Given the description of an element on the screen output the (x, y) to click on. 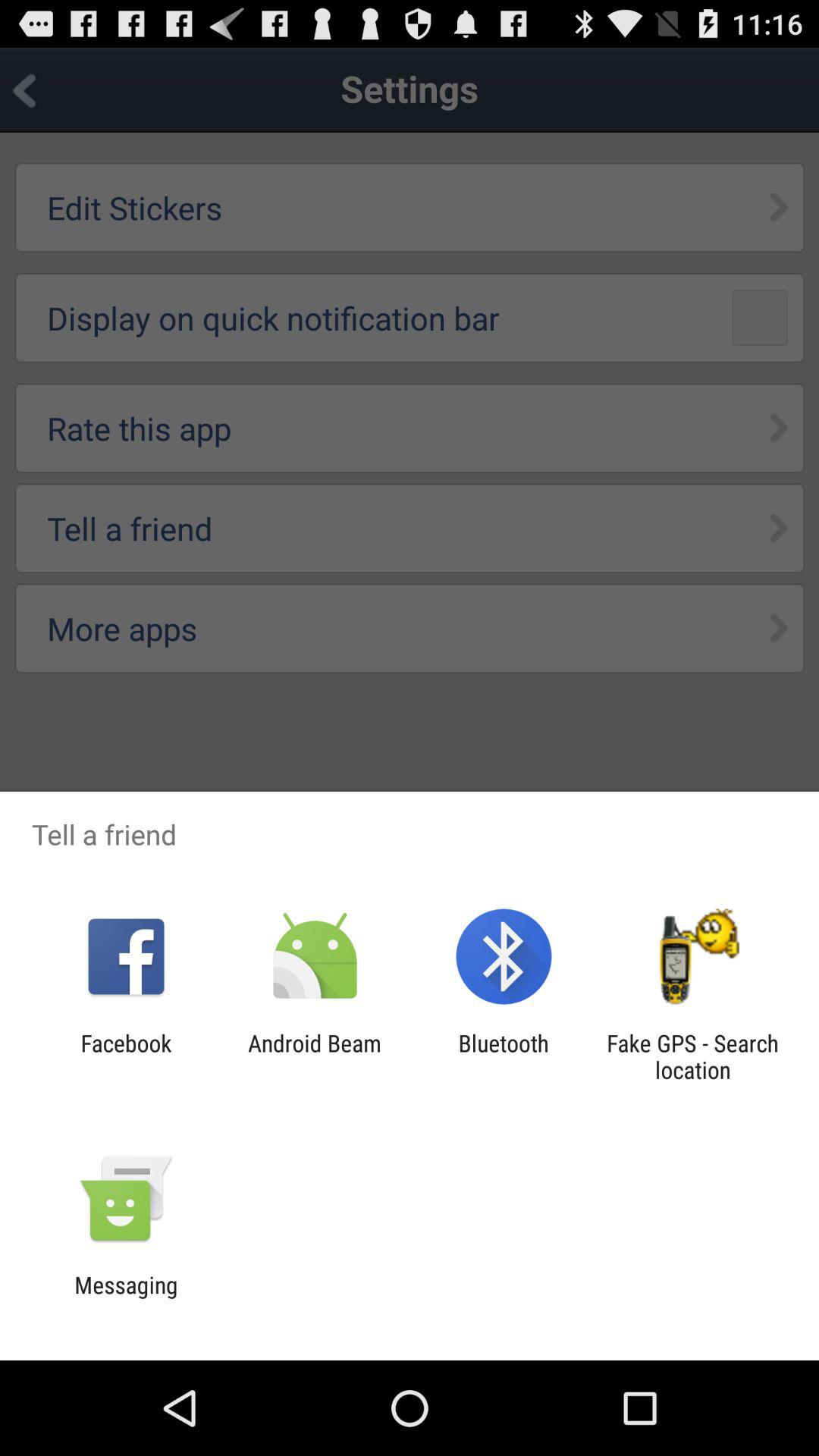
open android beam app (314, 1056)
